Given the description of an element on the screen output the (x, y) to click on. 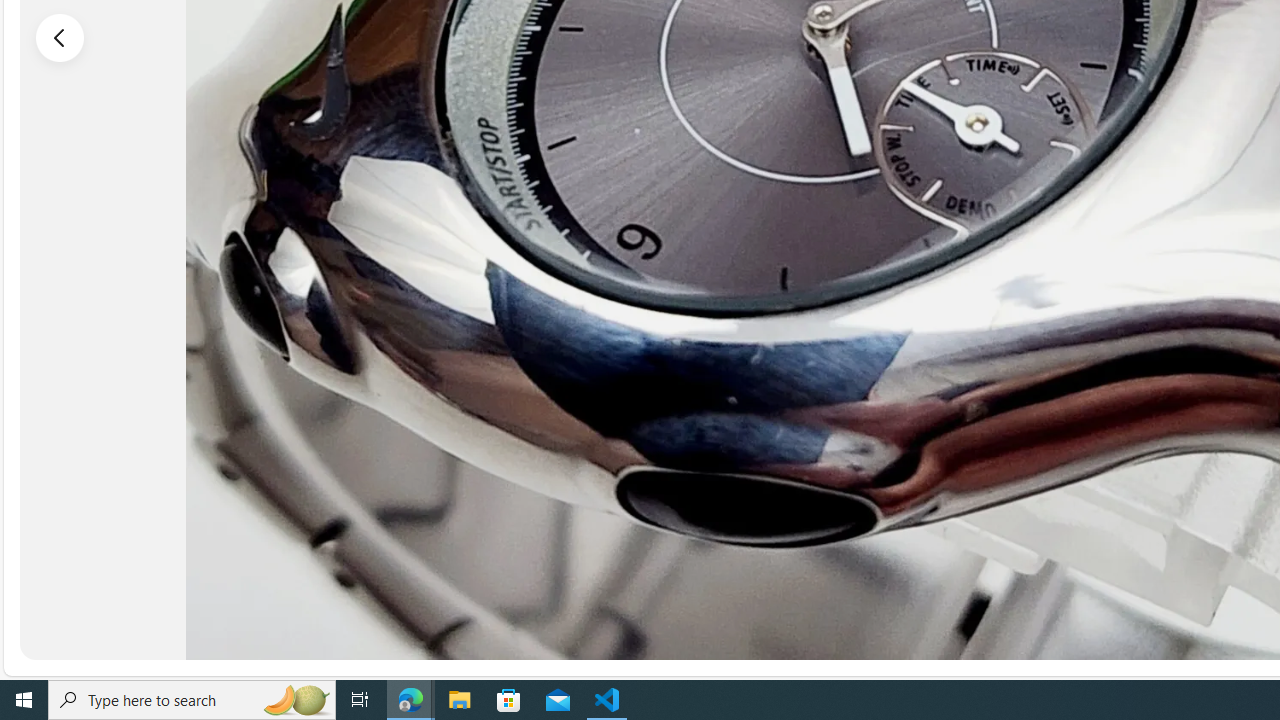
Previous image - Item images thumbnails (59, 37)
